Given the description of an element on the screen output the (x, y) to click on. 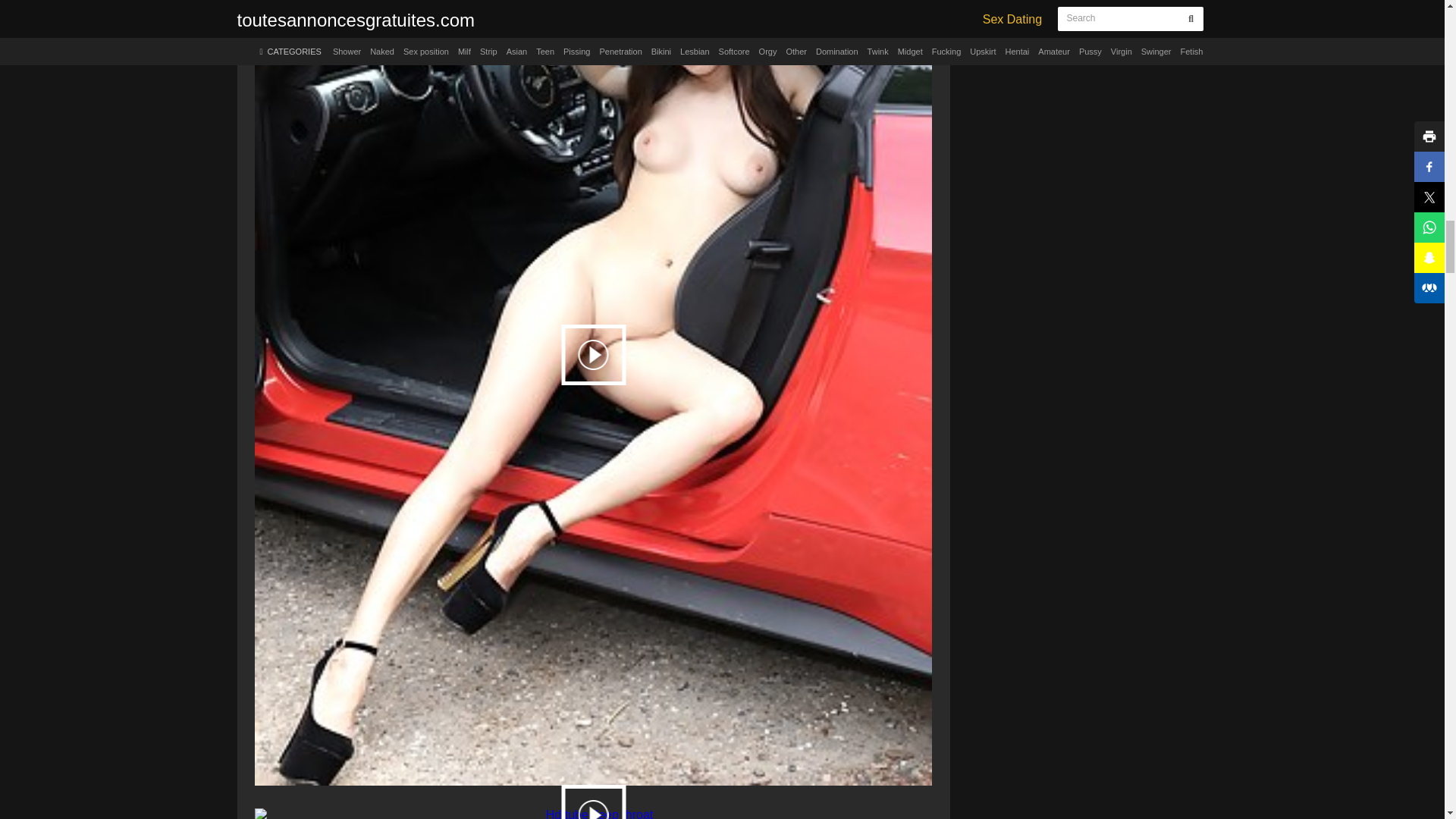
Meagn foxs boobs (592, 807)
